Given the description of an element on the screen output the (x, y) to click on. 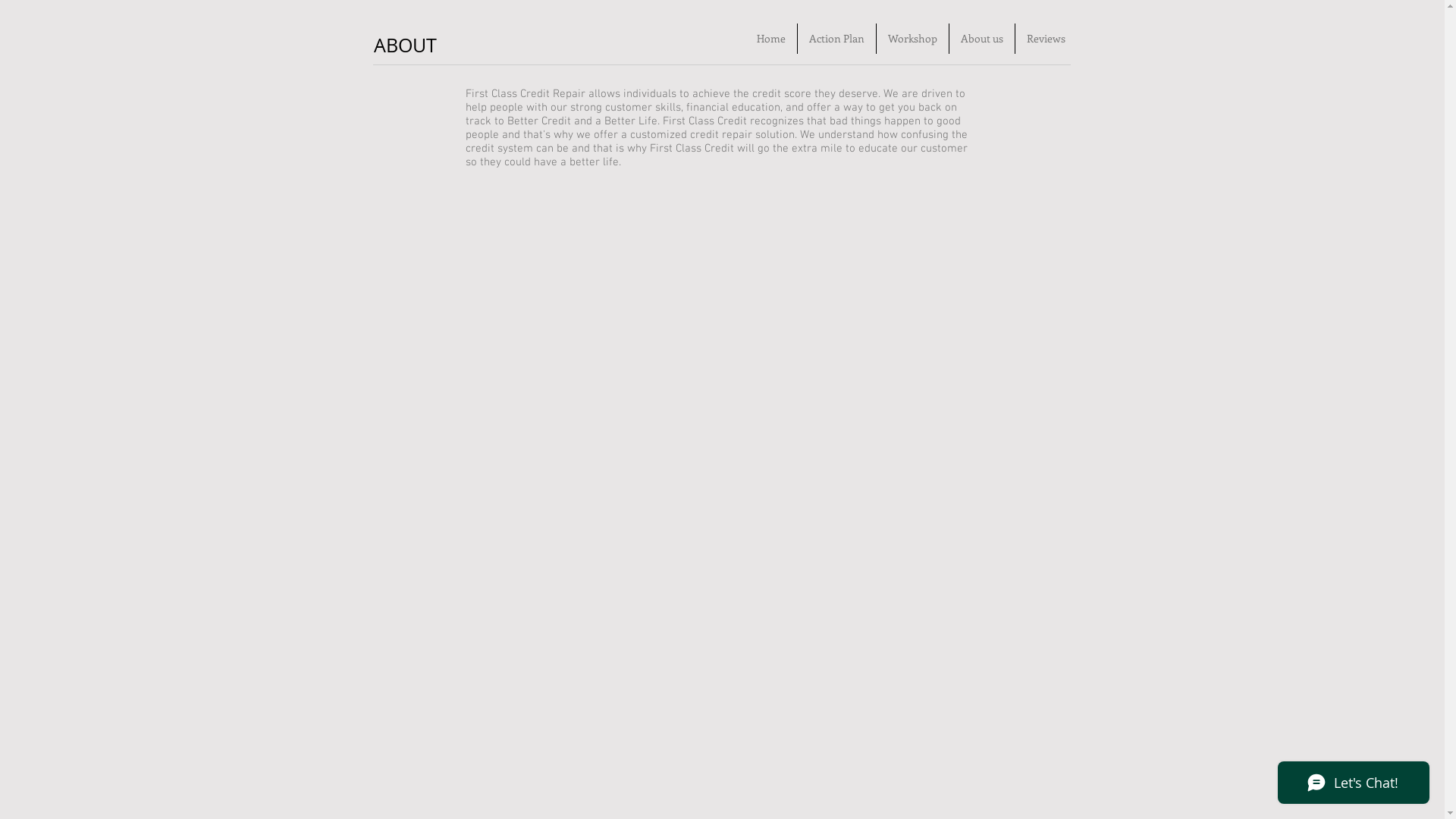
About us Element type: text (981, 38)
Reviews Element type: text (1045, 38)
Workshop Element type: text (912, 38)
Action Plan Element type: text (836, 38)
Home Element type: text (770, 38)
